Given the description of an element on the screen output the (x, y) to click on. 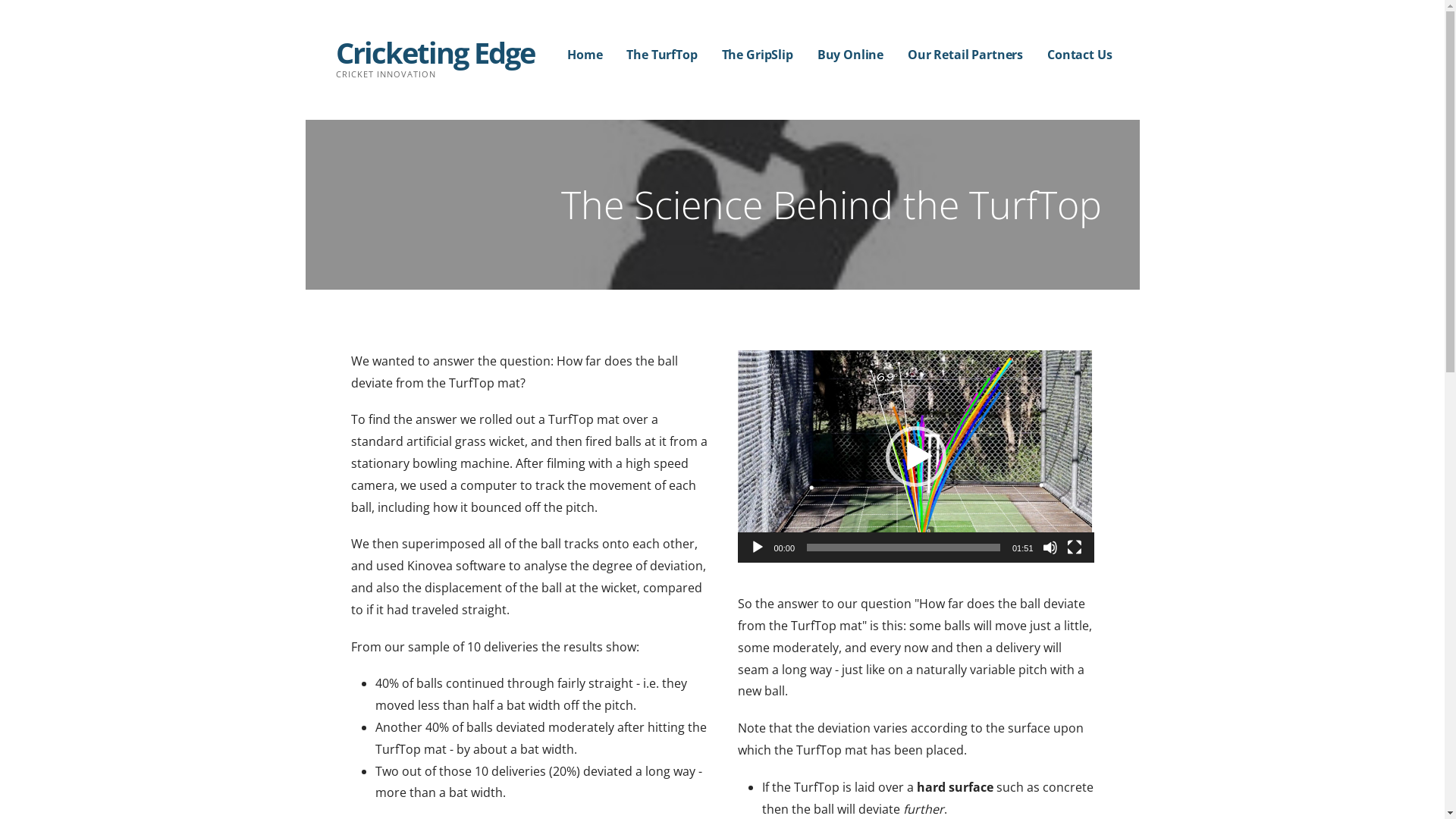
Mute Element type: hover (1049, 547)
Contact Us Element type: text (1079, 55)
Home Element type: text (584, 55)
Play Element type: hover (756, 547)
Our Retail Partners Element type: text (964, 55)
Fullscreen Element type: hover (1073, 547)
The TurfTop Element type: text (661, 55)
Skip to content Element type: text (0, 0)
Buy Online Element type: text (850, 55)
Cricketing Edge Element type: text (434, 52)
The GripSlip Element type: text (757, 55)
